Given the description of an element on the screen output the (x, y) to click on. 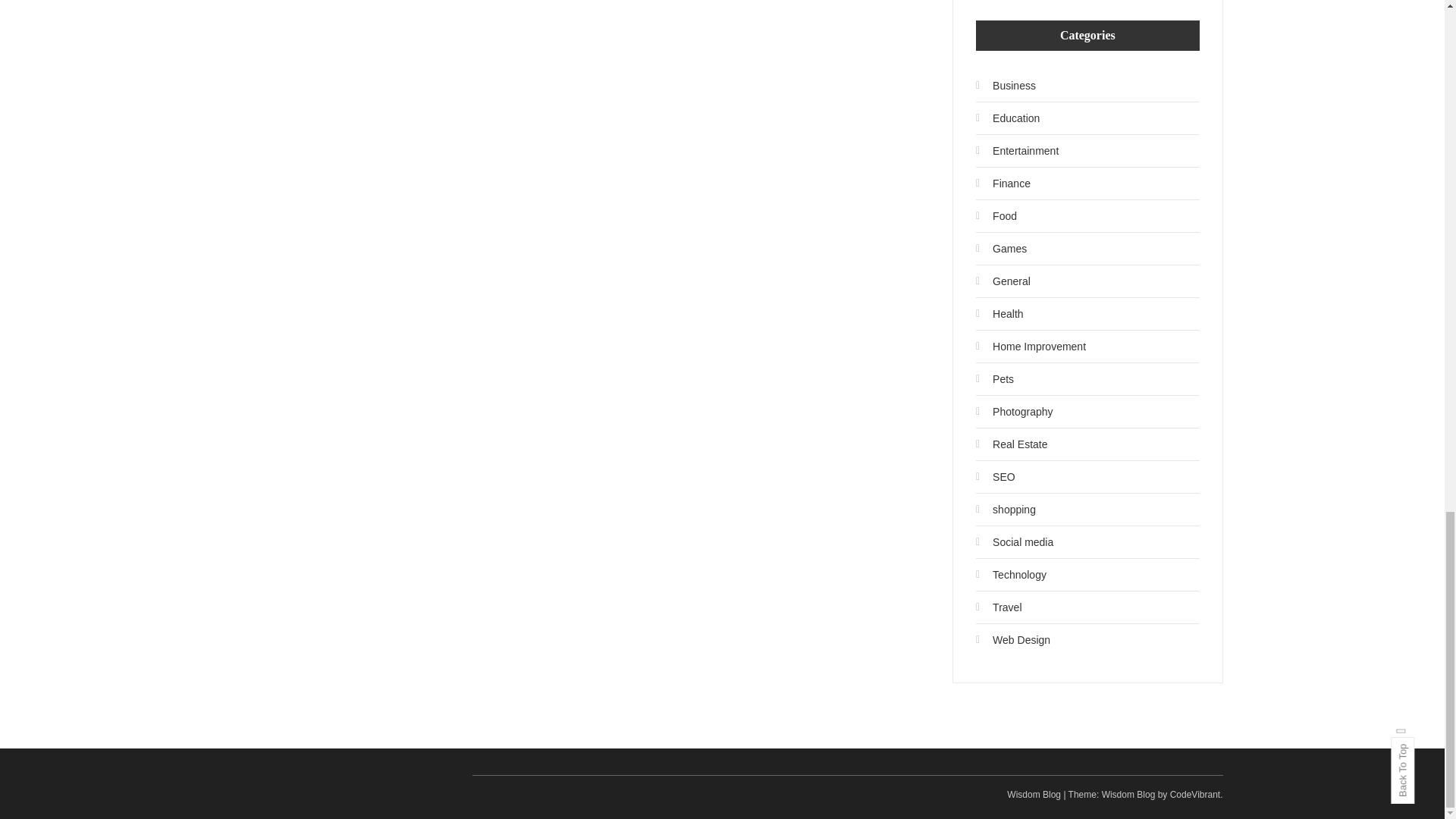
Games (1000, 248)
Home Improvement (1030, 346)
Education (1007, 118)
Business (1005, 85)
shopping (1005, 509)
Finance (1002, 183)
SEO (994, 476)
Food (995, 215)
Pets (994, 378)
Real Estate (1010, 444)
Photography (1013, 411)
Social media (1013, 541)
Health (999, 313)
General (1002, 281)
Entertainment (1016, 150)
